Given the description of an element on the screen output the (x, y) to click on. 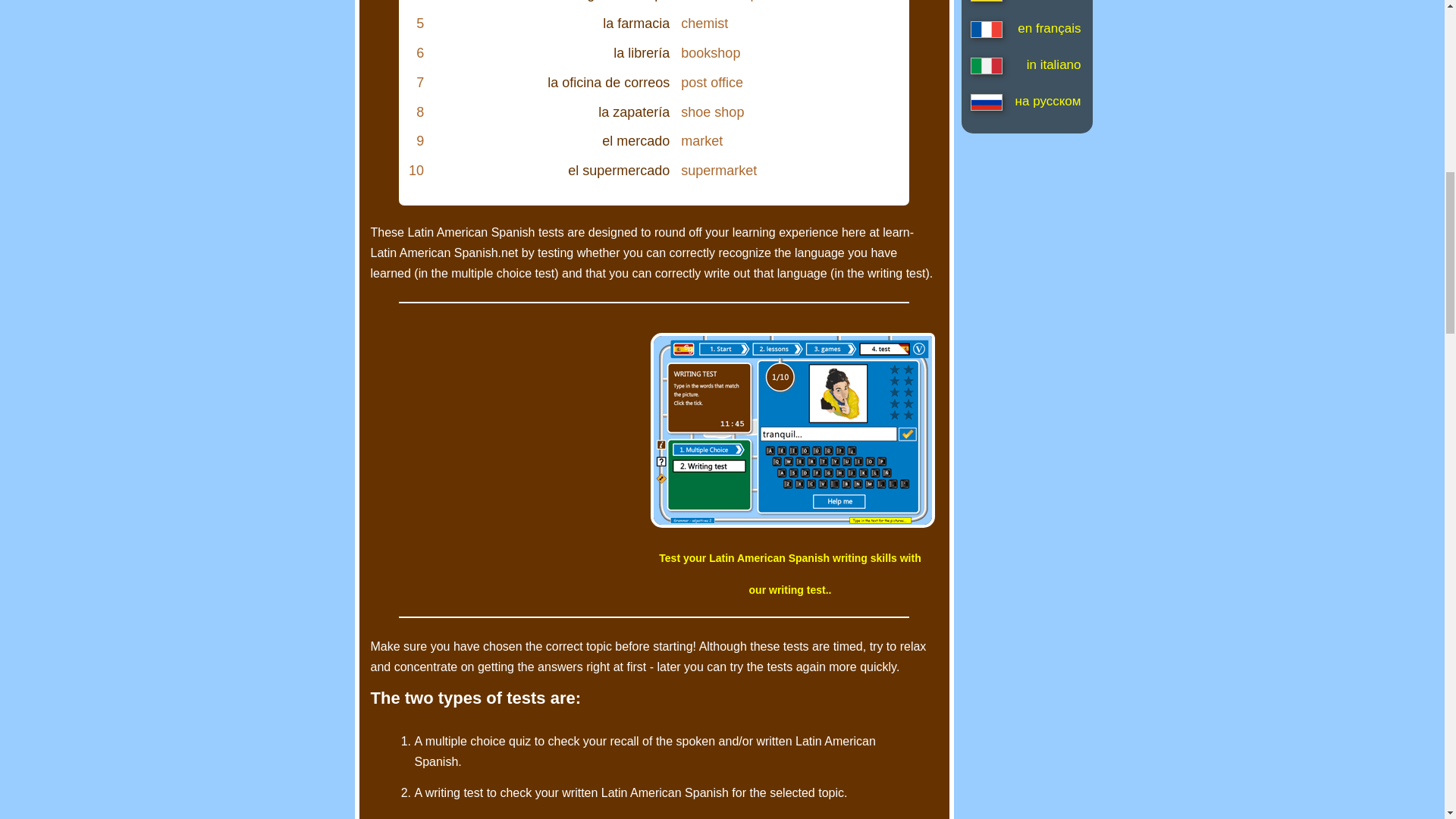
el mercado (635, 140)
la oficina de correos (608, 82)
la farmacia (635, 23)
el negocio de ropa (613, 0)
el supermercado (618, 170)
